Given the description of an element on the screen output the (x, y) to click on. 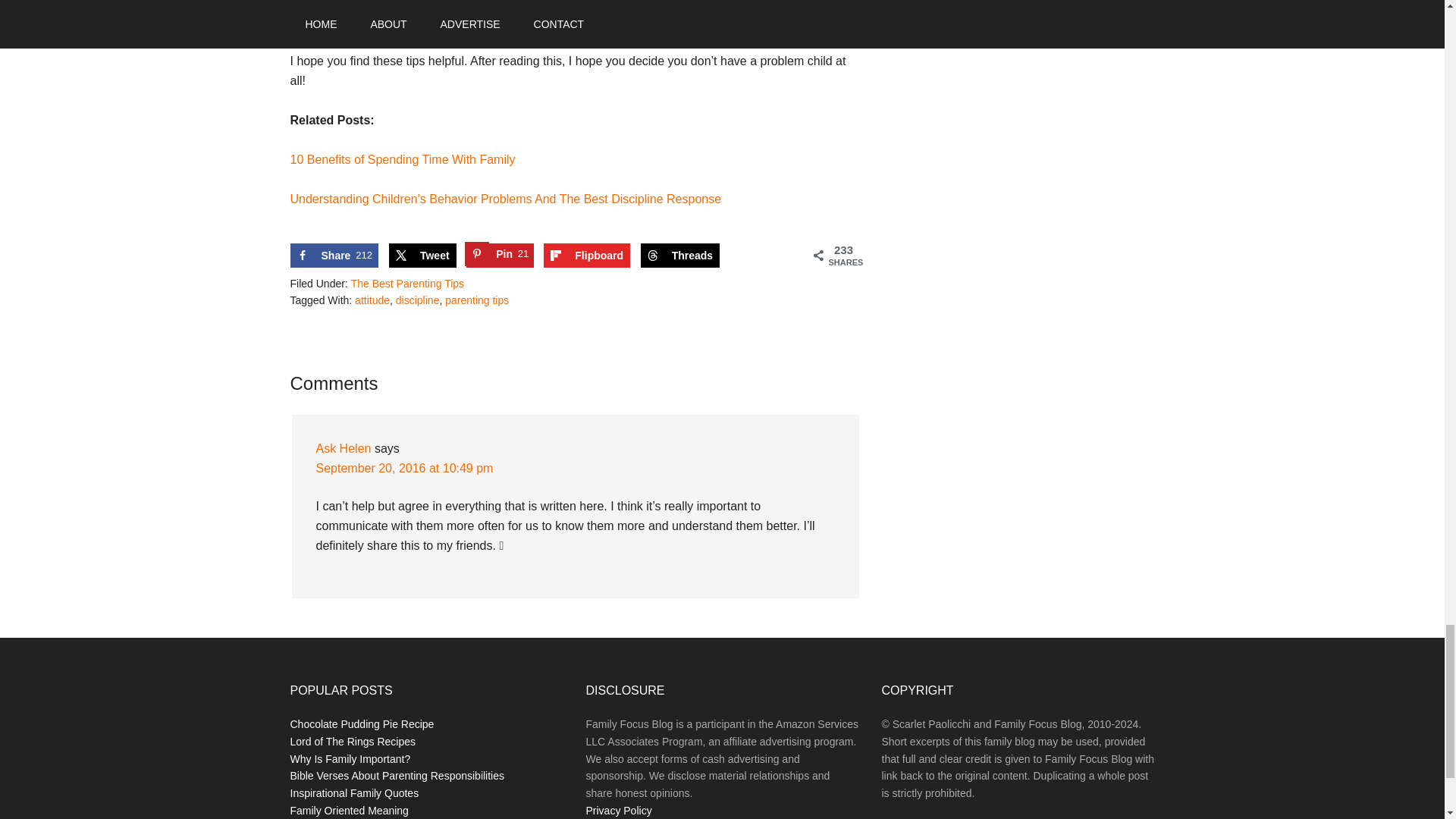
Share on Threads (679, 255)
10 Benefits of Spending Time With Family (333, 255)
Save to Pinterest (402, 159)
Tweet (499, 255)
Share on X (422, 255)
Share on Facebook (422, 255)
Share on Flipboard (333, 255)
